Given the description of an element on the screen output the (x, y) to click on. 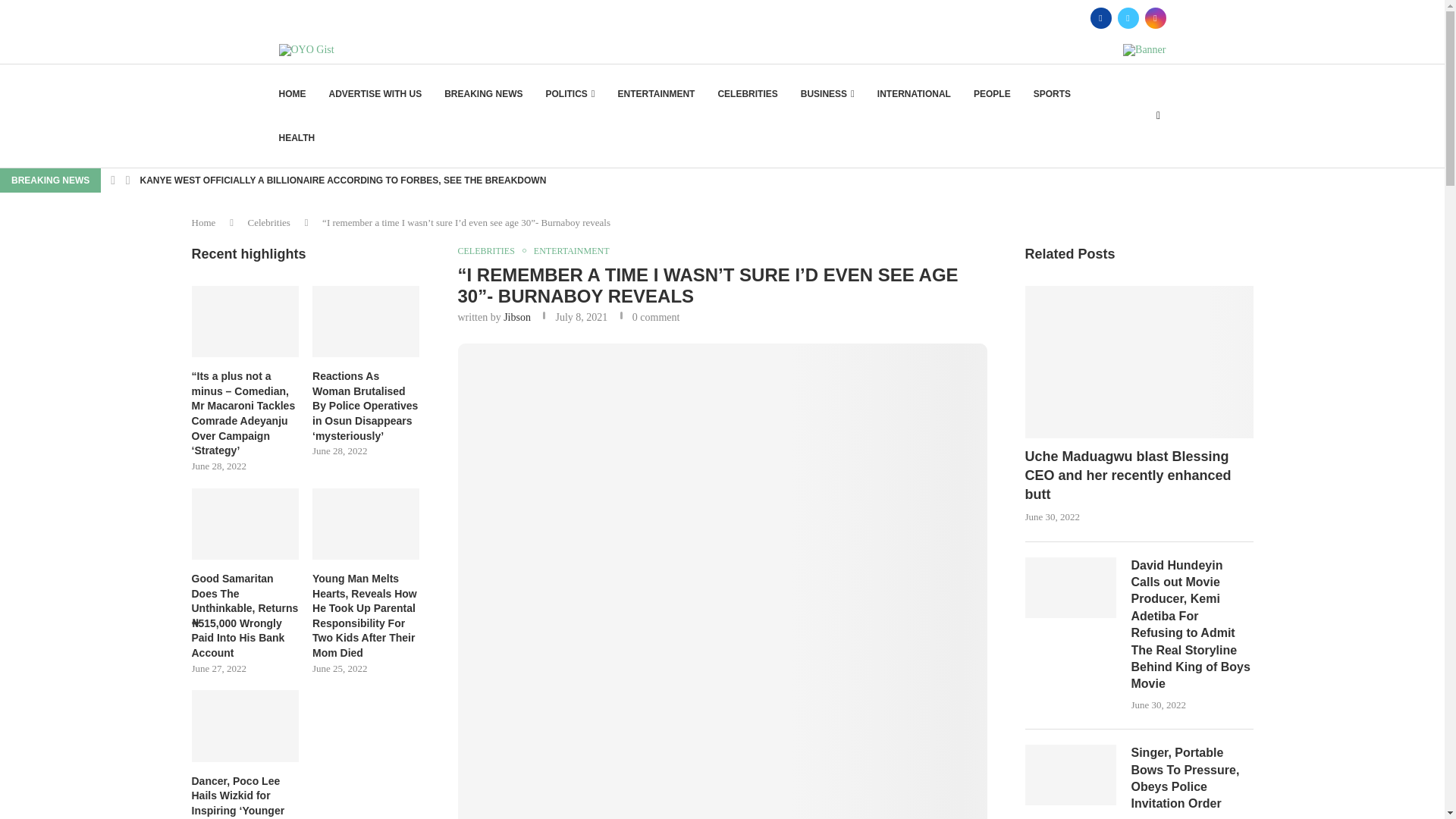
HOME (292, 94)
BREAKING NEWS (483, 94)
POLITICS (570, 94)
ADVERTISE WITH US (375, 94)
HEALTH (297, 137)
ENTERTAINMENT (656, 94)
BUSINESS (827, 94)
INTERNATIONAL (913, 94)
PEOPLE (992, 94)
CELEBRITIES (747, 94)
